Given the description of an element on the screen output the (x, y) to click on. 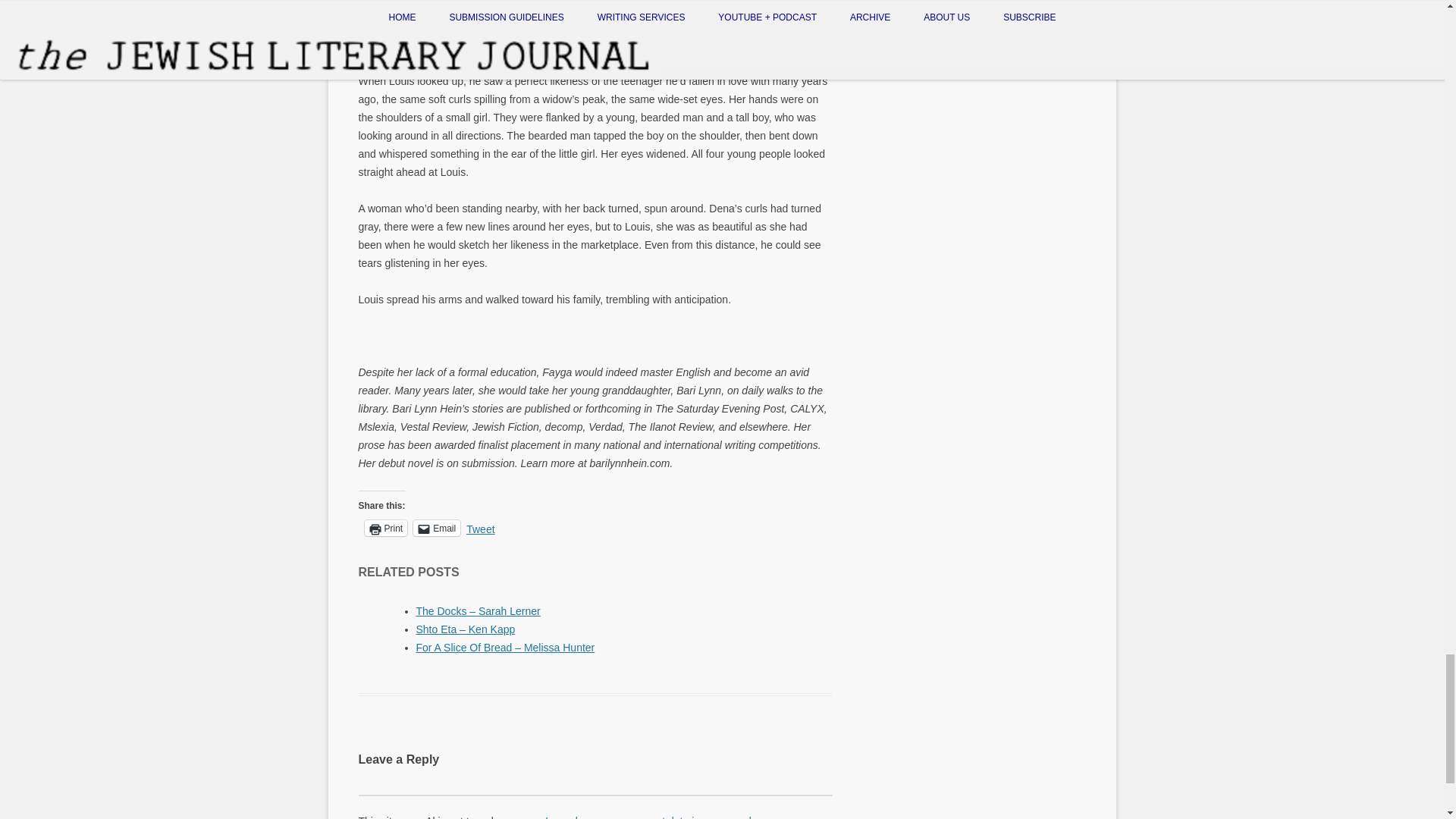
Email (436, 528)
Click to print (385, 528)
Print (385, 528)
Learn how your comment data is processed (647, 816)
Tweet (480, 526)
Click to email a link to a friend (436, 528)
